Given the description of an element on the screen output the (x, y) to click on. 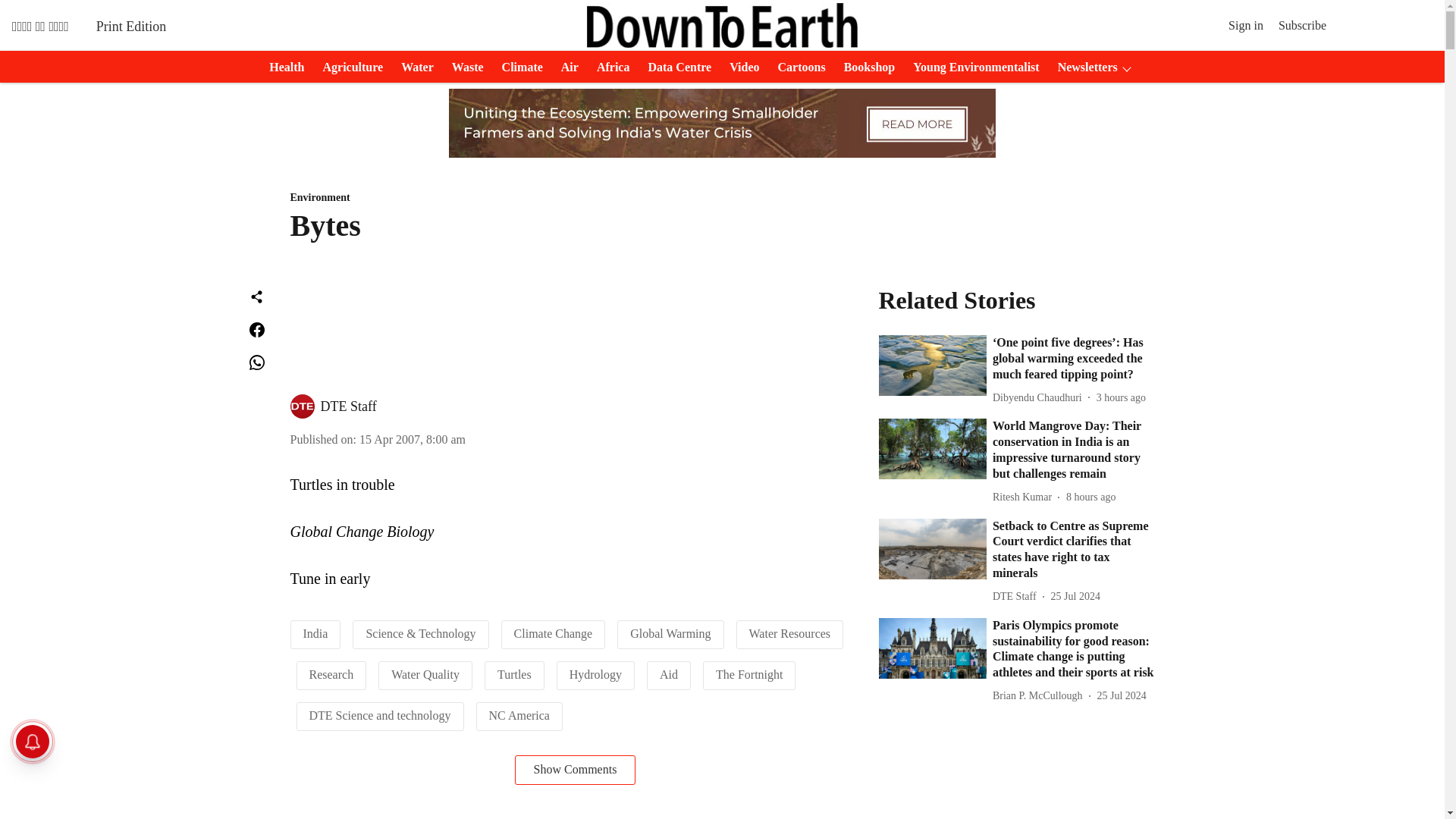
Global Warming (670, 633)
Cartoons (796, 67)
Water (412, 67)
Young Environmentalist (971, 67)
2024-07-25 10:36 (1075, 596)
Data Centre (675, 67)
2007-04-15 00:00 (412, 439)
Climate Change (552, 633)
Africa (609, 67)
2024-07-26 12:37 (1120, 397)
Health (282, 67)
Climate (518, 67)
2024-07-26 07:35 (1090, 496)
India (315, 633)
Environment (574, 198)
